Given the description of an element on the screen output the (x, y) to click on. 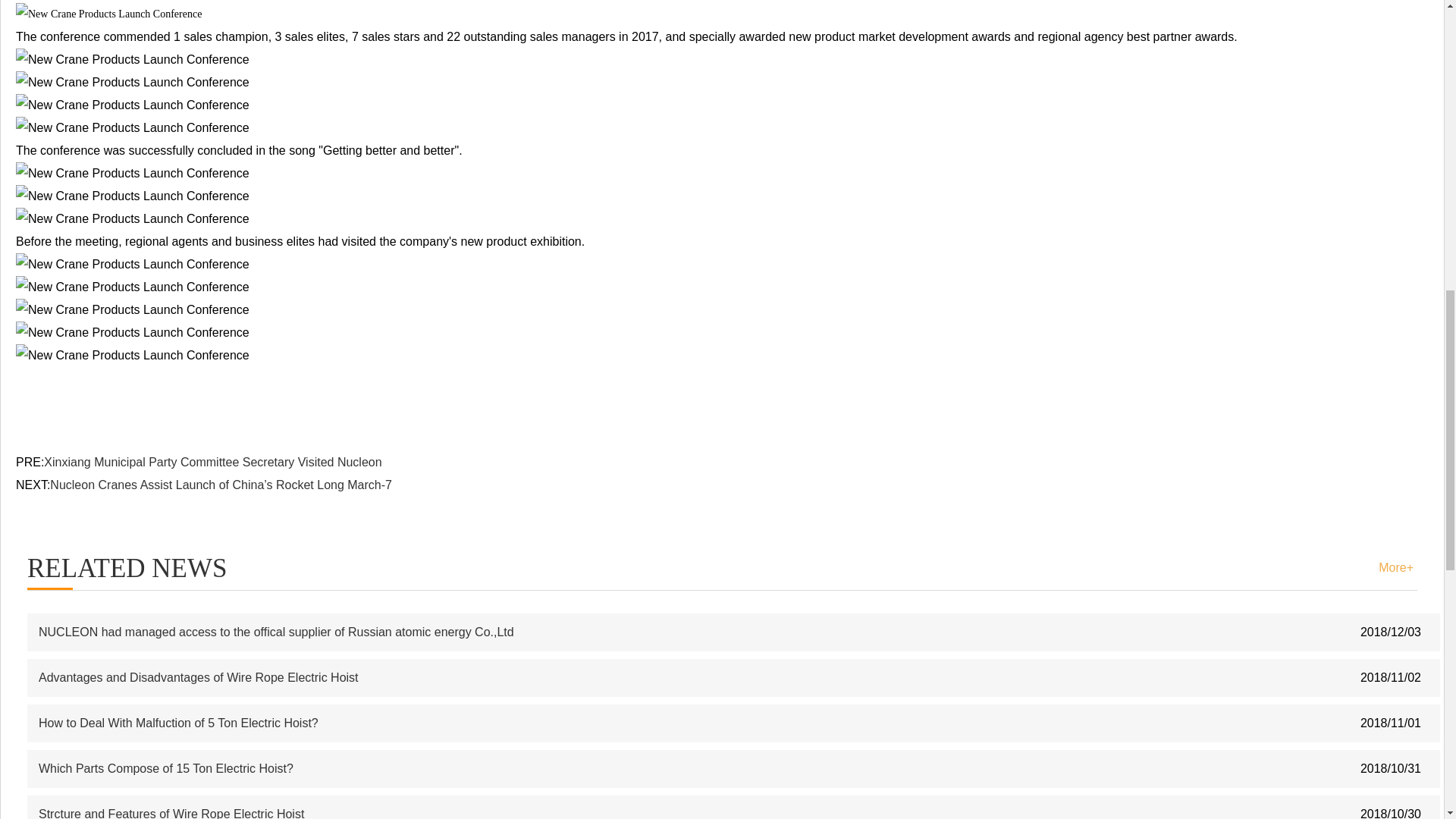
New Crane Products Launch Conference (109, 14)
New Crane Products Launch Conference (132, 196)
New Crane Products Launch Conference (132, 219)
Strcture and Features of Wire Rope Electric Hoist (171, 813)
New Crane Products Launch Conference (132, 173)
Advantages and Disadvantages of Wire Rope Electric Hoist (198, 676)
Xinxiang Municipal Party Committee Secretary Visited Nucleon (212, 461)
How to Deal With Malfuction of 5 Ton Electric Hoist? (178, 722)
New Crane Products Launch Conference (132, 59)
Which Parts Compose of 15 Ton Electric Hoist? (166, 768)
New Crane Products Launch Conference (132, 264)
New Crane Products Launch Conference (132, 354)
New Crane Products Launch Conference (132, 332)
New Crane Products Launch Conference (132, 287)
